Given the description of an element on the screen output the (x, y) to click on. 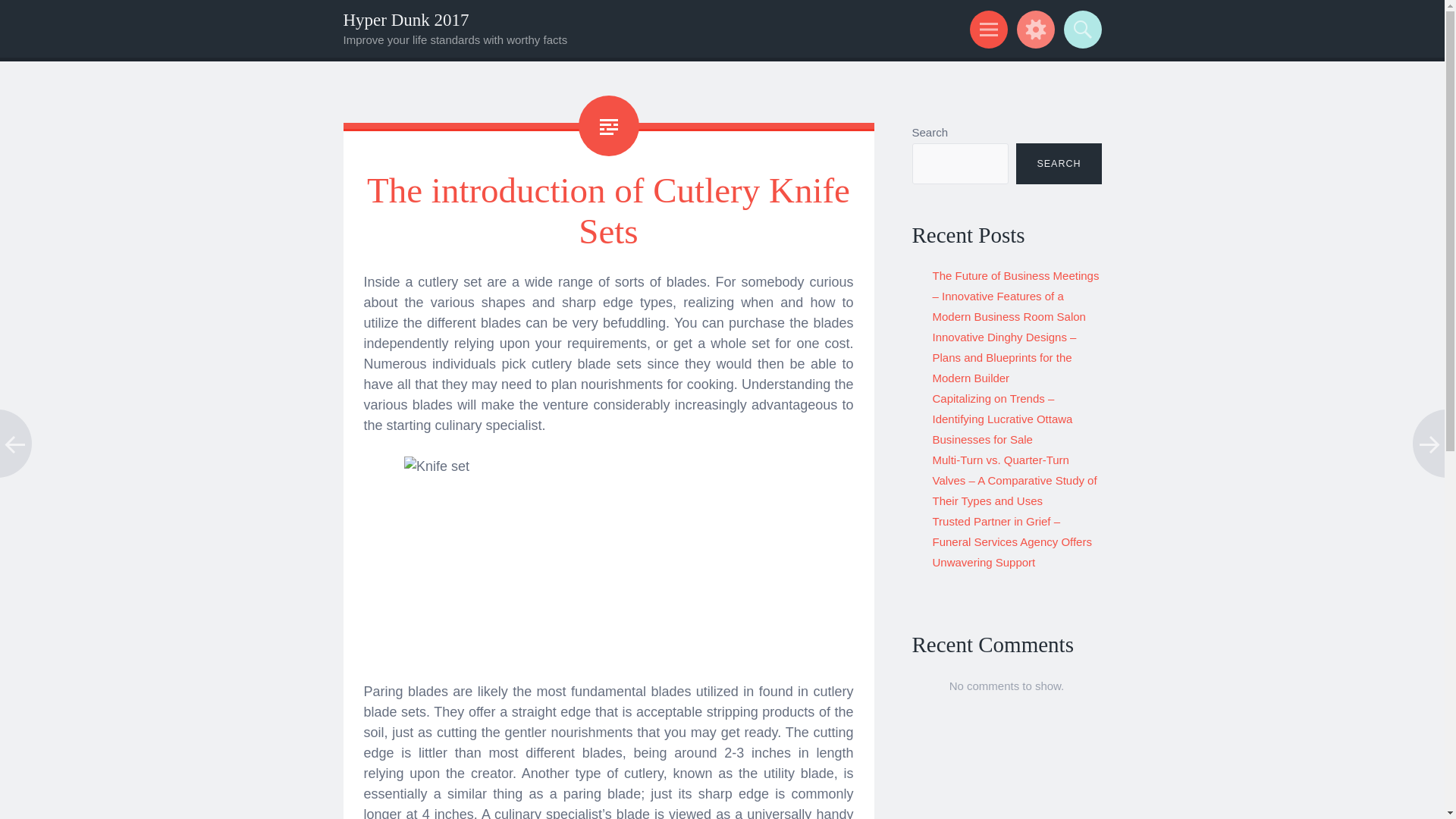
Widgets (1032, 29)
Search (1080, 29)
Hyper Dunk 2017 (405, 19)
Menu (985, 29)
